Given the description of an element on the screen output the (x, y) to click on. 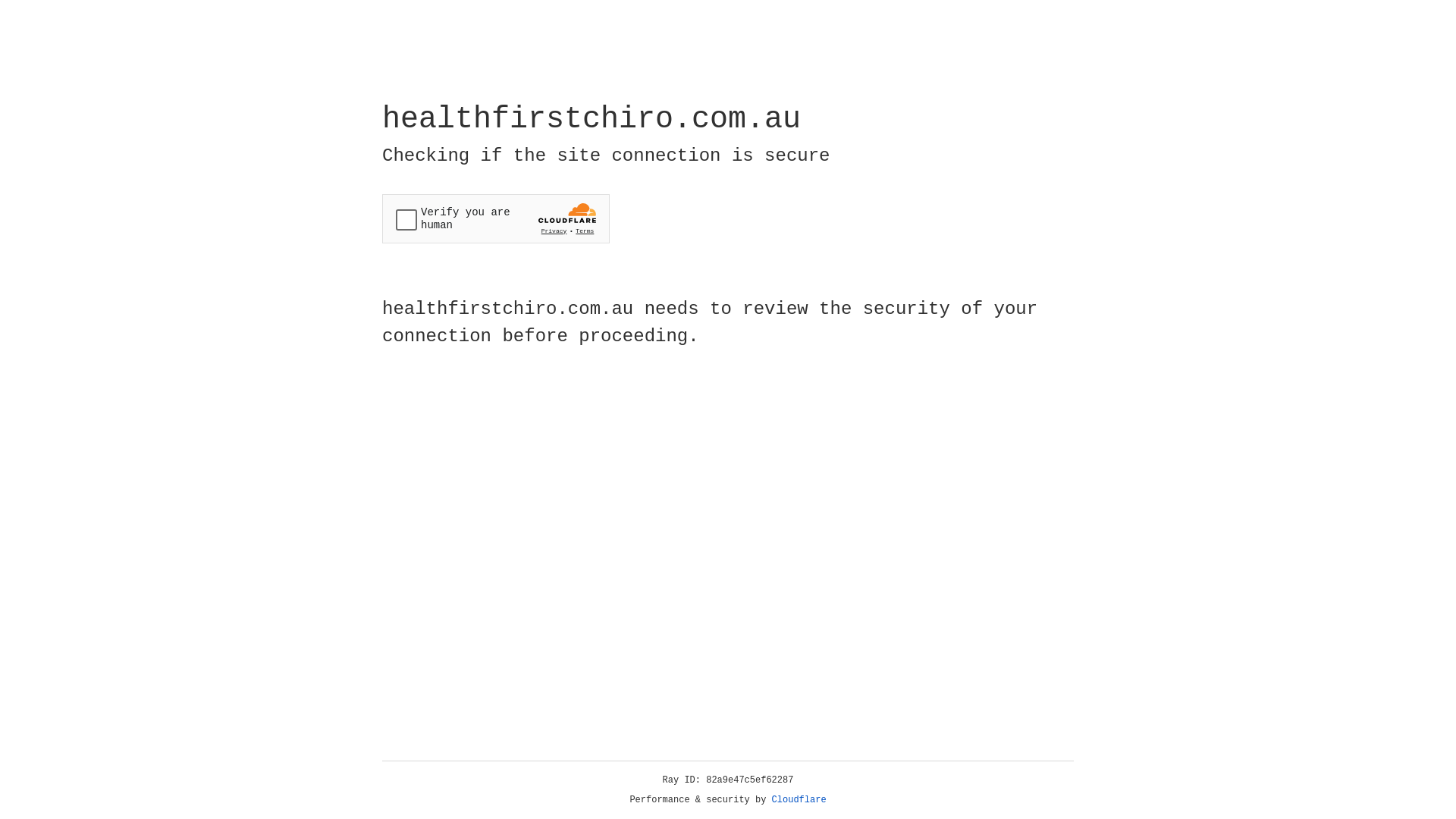
Widget containing a Cloudflare security challenge Element type: hover (495, 218)
Cloudflare Element type: text (798, 799)
